Given the description of an element on the screen output the (x, y) to click on. 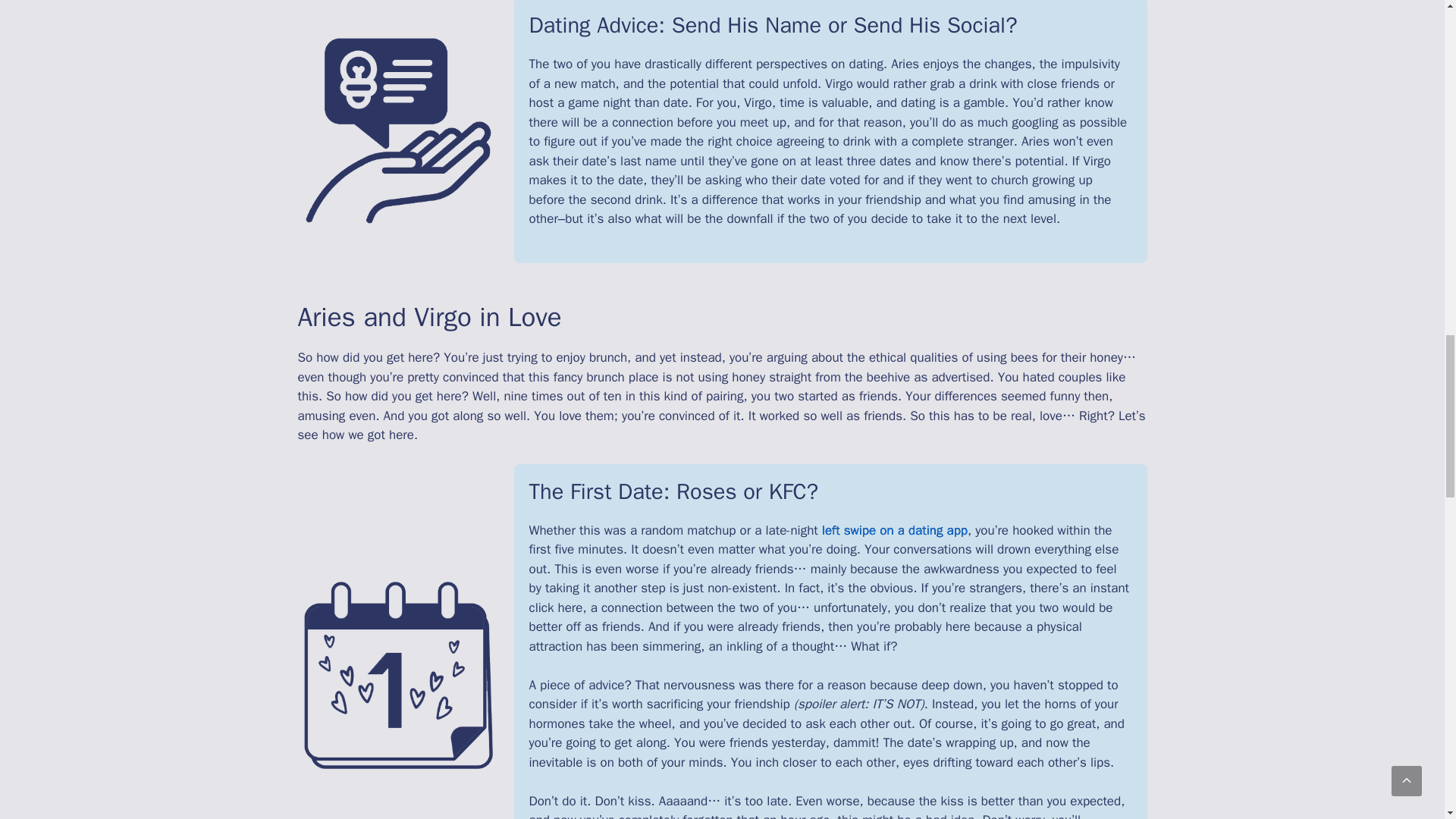
Dating Advice Icon (397, 130)
First Date Icon (397, 674)
